Given the description of an element on the screen output the (x, y) to click on. 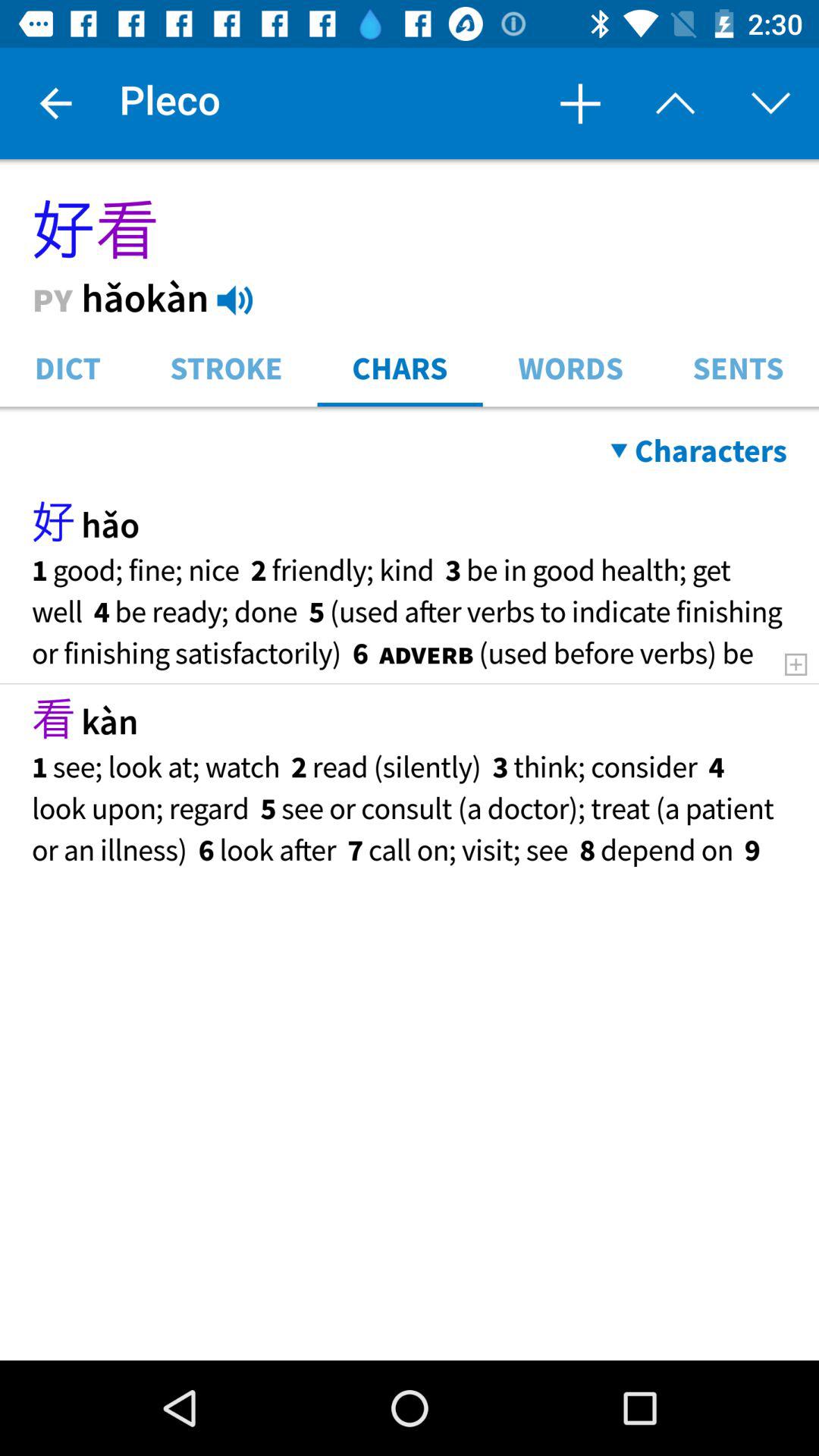
press item next to stroke (67, 366)
